Given the description of an element on the screen output the (x, y) to click on. 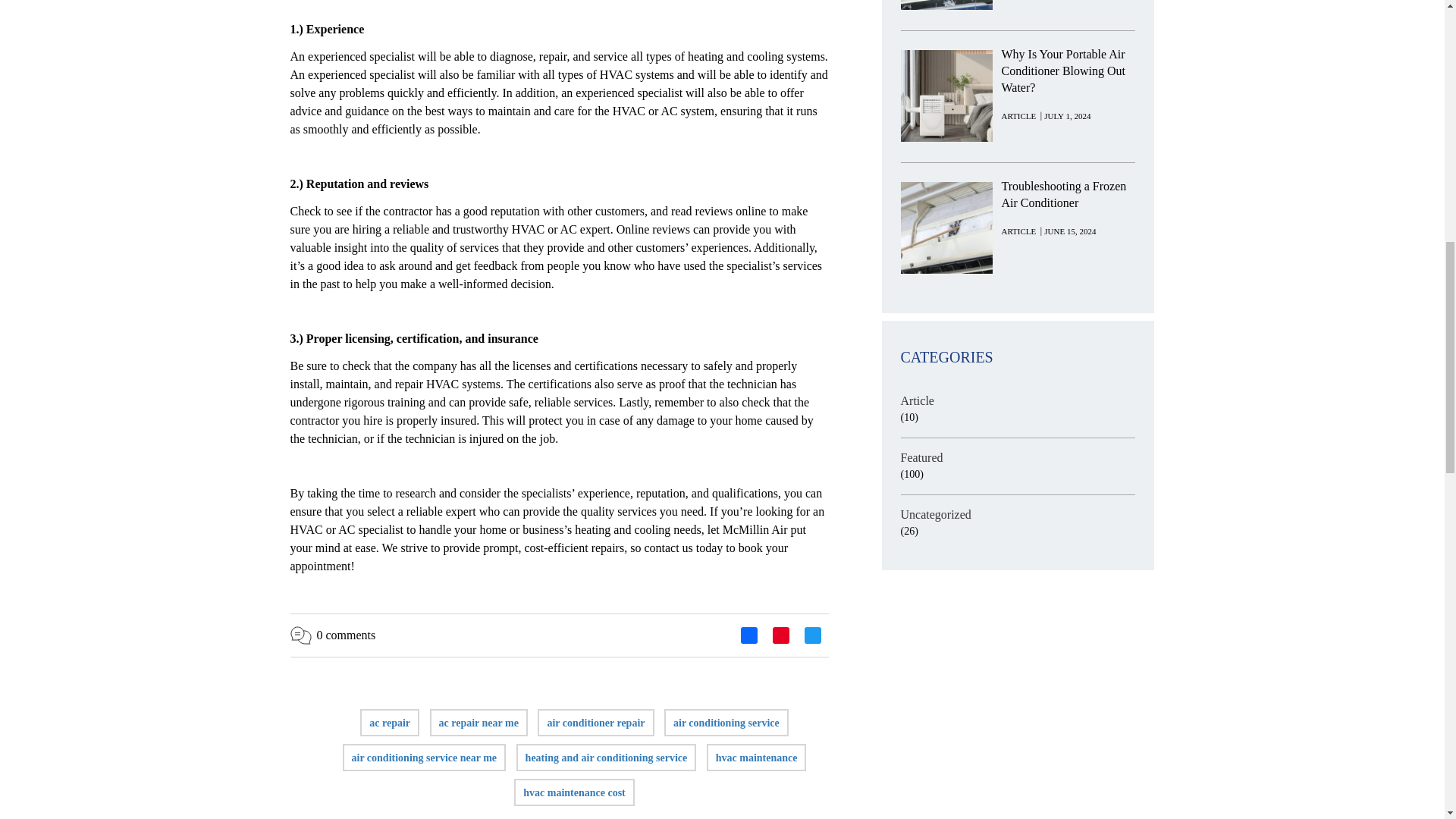
hvac maintenance cost (574, 792)
Facebook (748, 637)
Pinterest (780, 637)
hvac maintenance (756, 757)
Twitter (812, 637)
Pinterest (780, 637)
ac repair near me (478, 722)
Facebook (748, 637)
air conditioner repair (596, 722)
ac repair (389, 722)
